Given the description of an element on the screen output the (x, y) to click on. 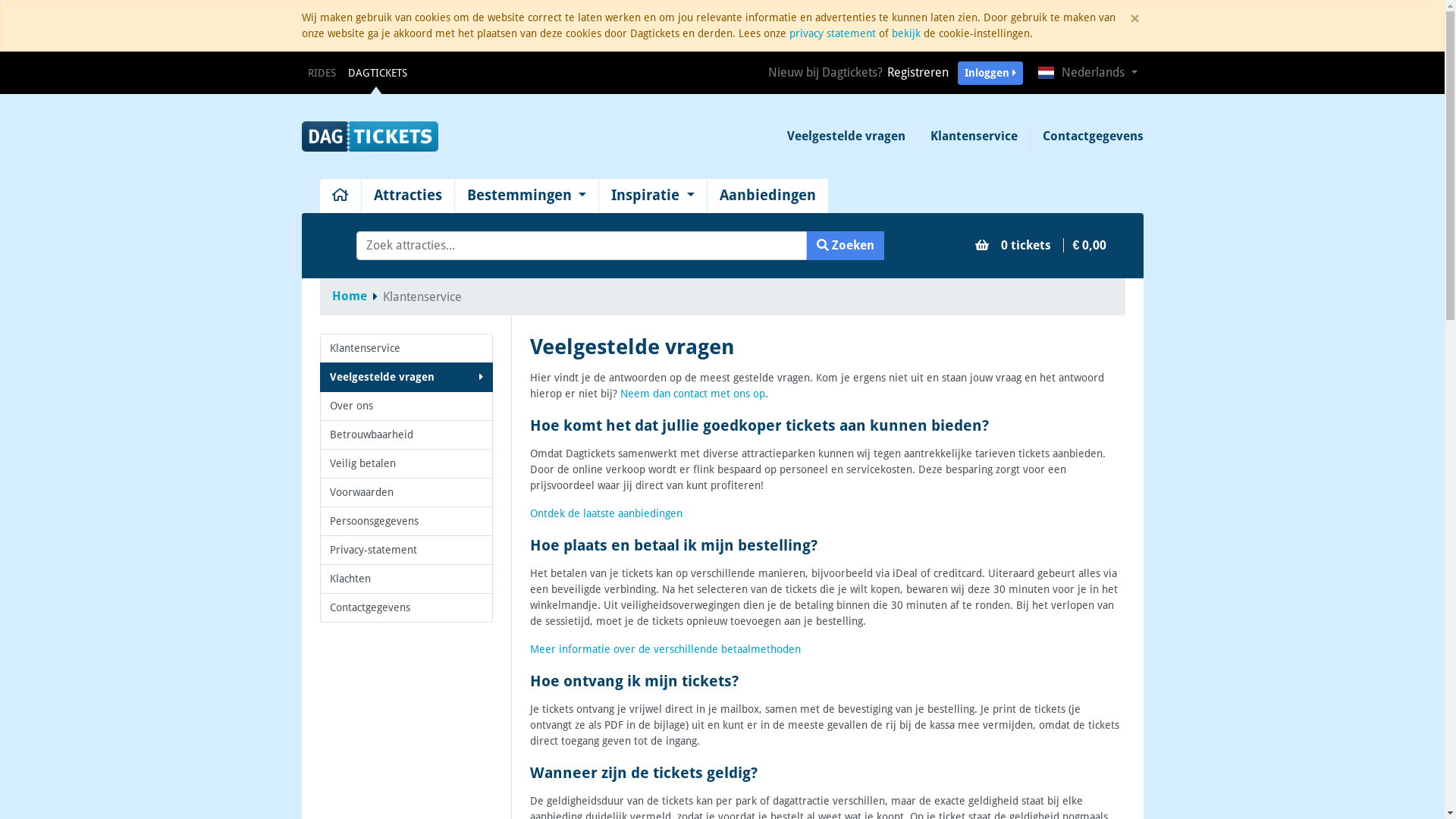
Betrouwbaarheid Element type: text (406, 434)
Home Element type: text (349, 295)
Meer informatie over de verschillende betaalmethoden Element type: text (665, 649)
Bestemmingen Element type: text (527, 195)
RIDES
(CURRENT) Element type: text (321, 73)
Nederlands Element type: text (1087, 72)
Zoeken Element type: text (845, 245)
Ontdek de laatste aanbiedingen Element type: text (606, 513)
bekijk Element type: text (905, 33)
privacy statement Element type: text (831, 33)
Inspiratie Element type: text (652, 195)
Over ons Element type: text (406, 405)
Inloggen Element type: text (989, 72)
Aanbiedingen Element type: text (767, 195)
Contactgegevens Element type: text (1085, 136)
Klantenservice Element type: text (973, 136)
Voorwaarden Element type: text (406, 492)
Attracties Element type: text (406, 195)
Contactgegevens Element type: text (406, 607)
Veelgestelde vragen Element type: text (406, 377)
DAGTICKETS Element type: text (376, 73)
Privacy-statement Element type: text (406, 549)
Veelgestelde vragen Element type: text (846, 136)
Registreren Element type: text (917, 72)
Veilig betalen Element type: text (406, 463)
Klantenservice Element type: text (406, 348)
Neem dan contact met ons op Element type: text (692, 393)
Persoonsgegevens Element type: text (406, 521)
Klachten Element type: text (406, 578)
